Given the description of an element on the screen output the (x, y) to click on. 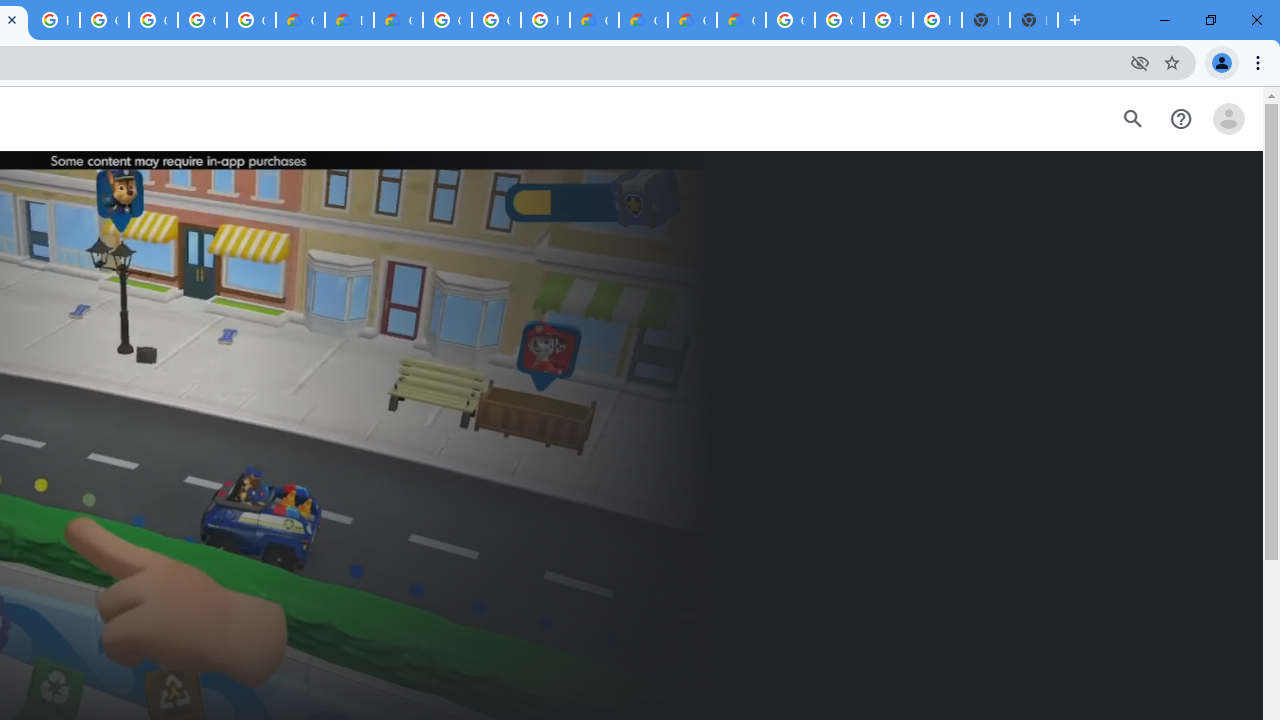
Google Cloud Platform (496, 20)
Google Cloud Platform (839, 20)
Google Workspace - Specific Terms (201, 20)
Google Cloud Pricing Calculator (692, 20)
Google Cloud Platform (447, 20)
Open account menu (1228, 119)
